Given the description of an element on the screen output the (x, y) to click on. 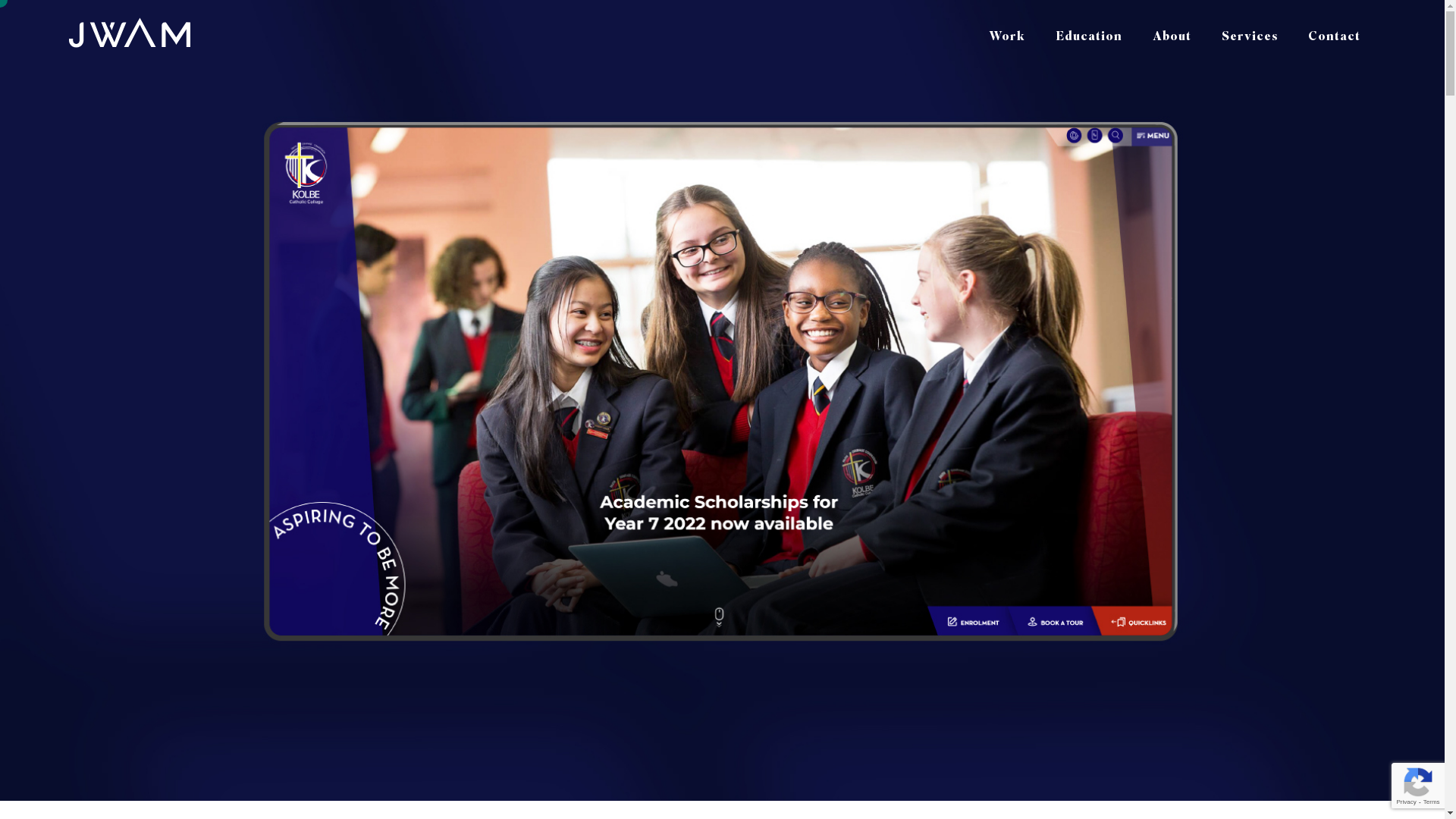
About Element type: text (1171, 32)
Contact Element type: text (1334, 32)
Work Element type: text (1006, 32)
Education Element type: text (1088, 32)
Services Element type: text (1249, 32)
